Given the description of an element on the screen output the (x, y) to click on. 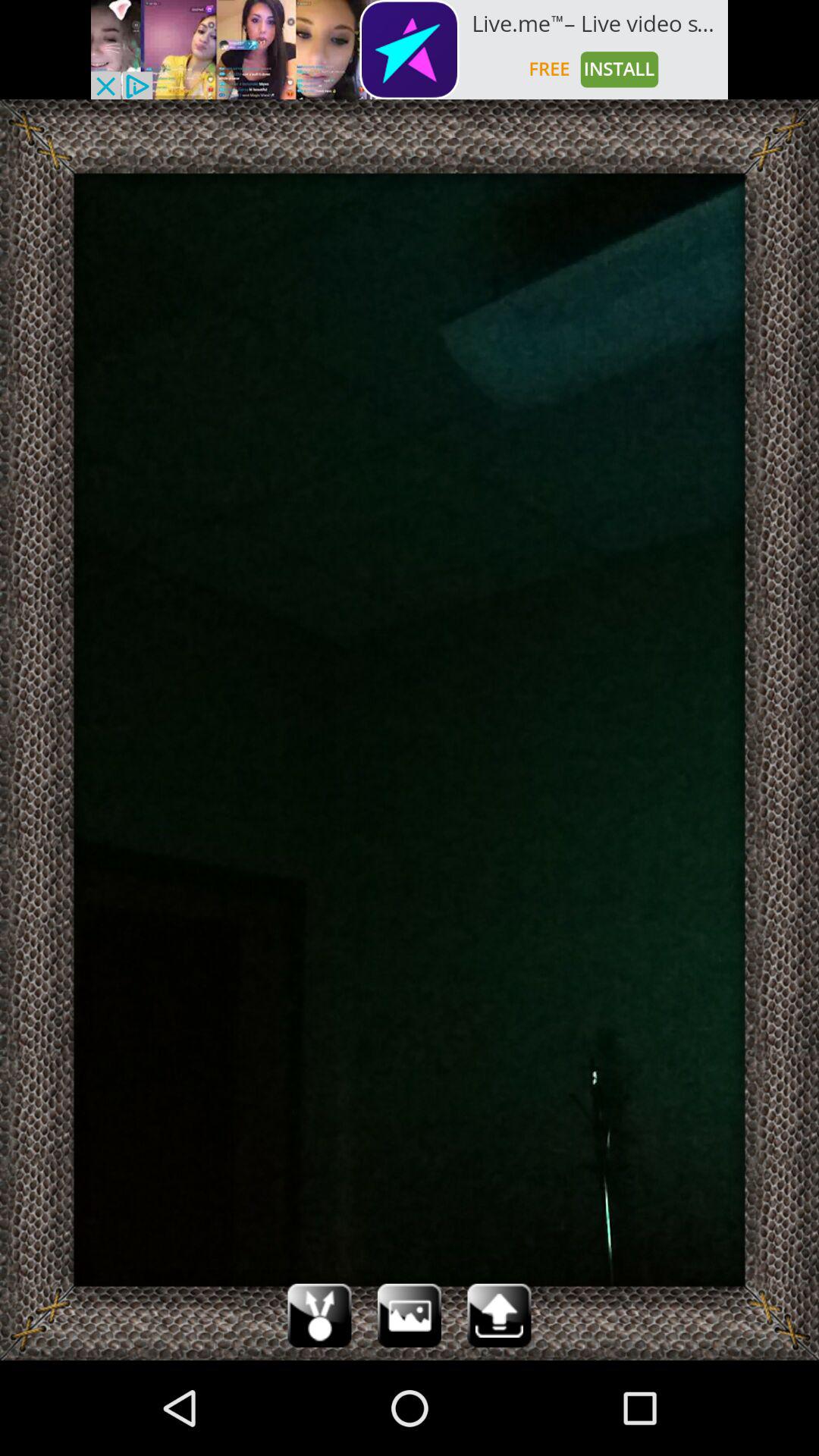
rotate button (319, 1315)
